Given the description of an element on the screen output the (x, y) to click on. 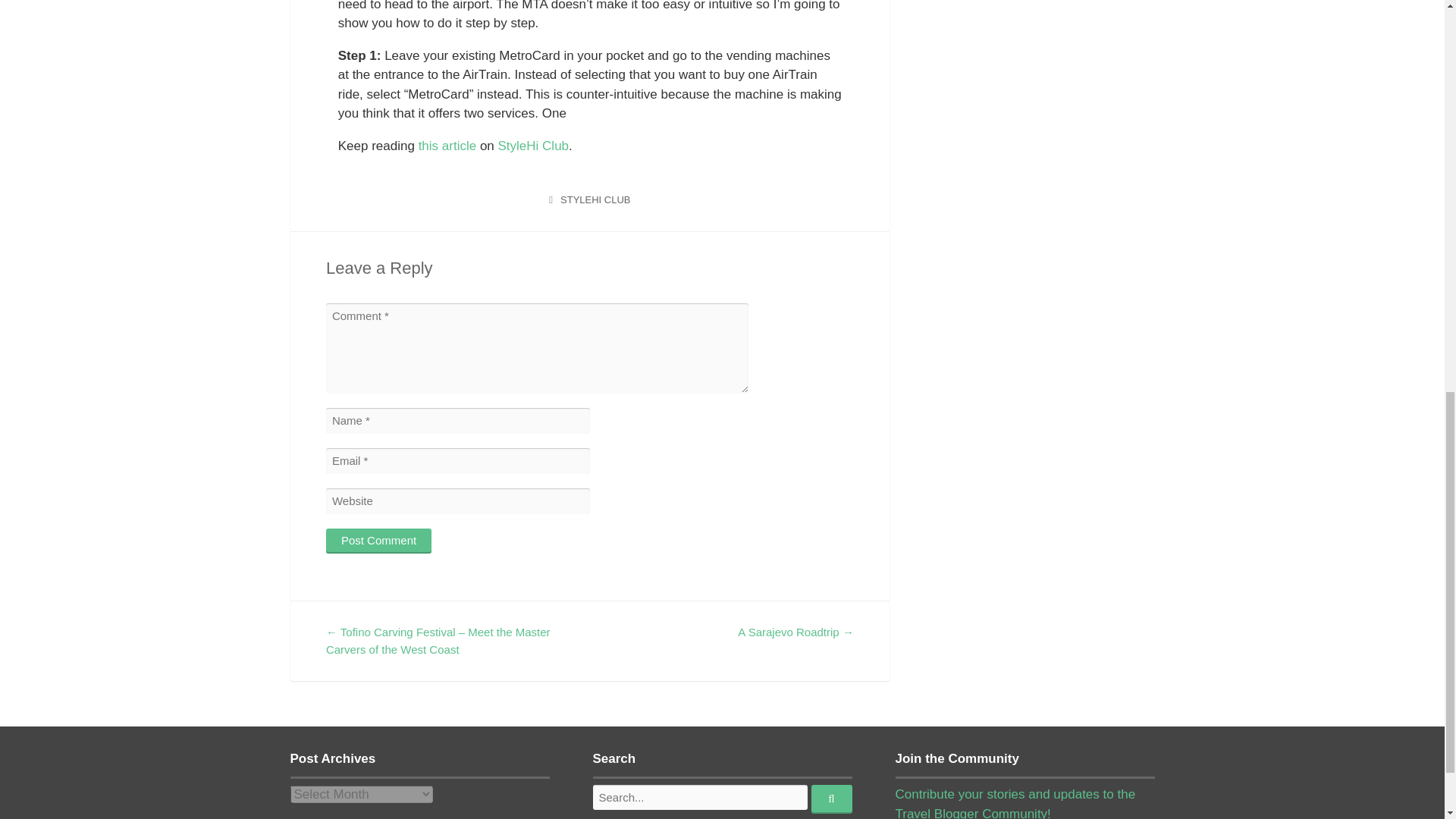
Search for: (700, 796)
Post Comment (378, 540)
STYLEHI CLUB (595, 199)
Post Comment (378, 540)
Search... (830, 799)
this article (448, 145)
StyleHi Club (533, 145)
